Given the description of an element on the screen output the (x, y) to click on. 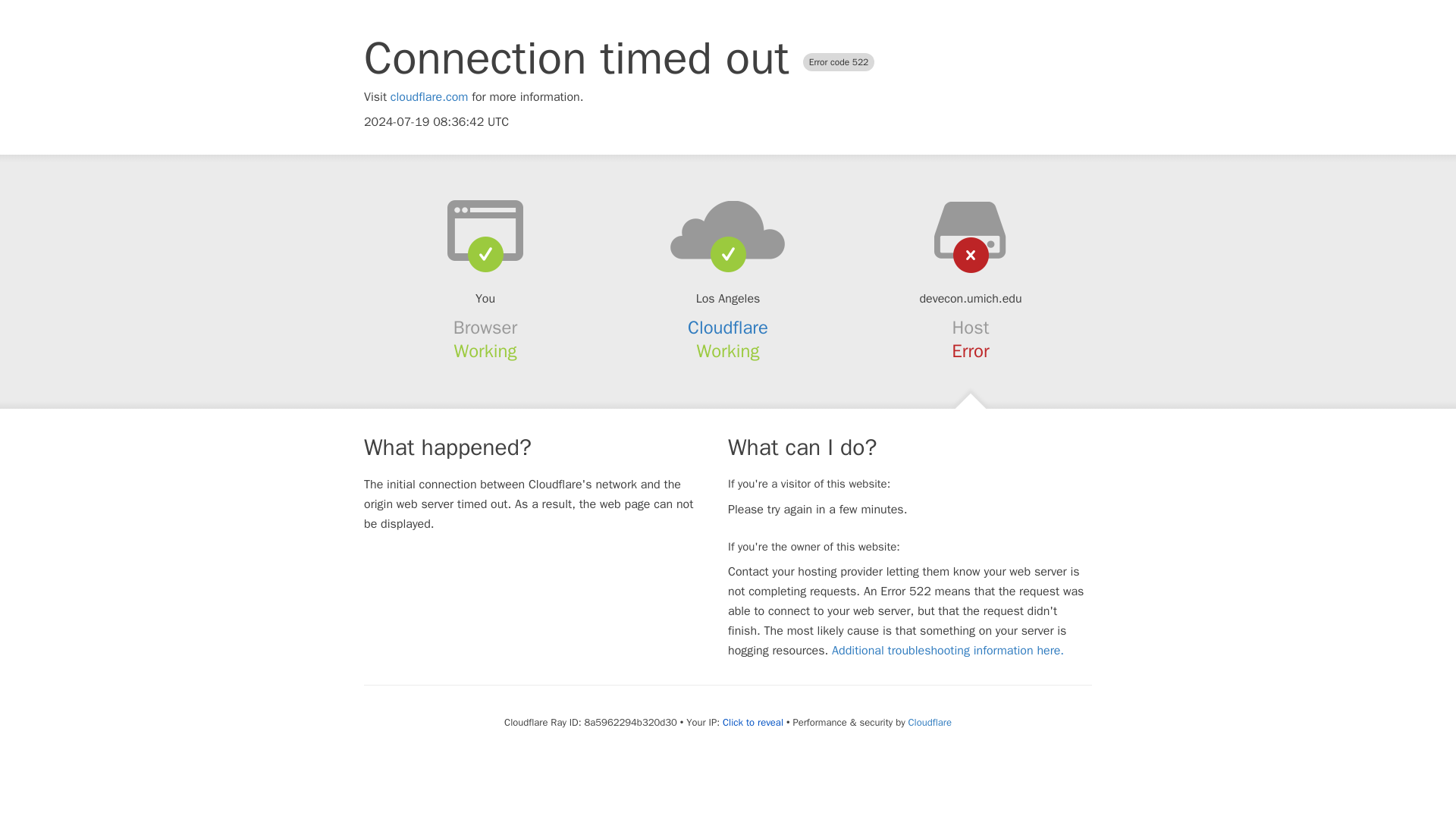
Cloudflare (727, 327)
Cloudflare (930, 721)
Click to reveal (752, 722)
cloudflare.com (429, 96)
Additional troubleshooting information here. (947, 650)
